Given the description of an element on the screen output the (x, y) to click on. 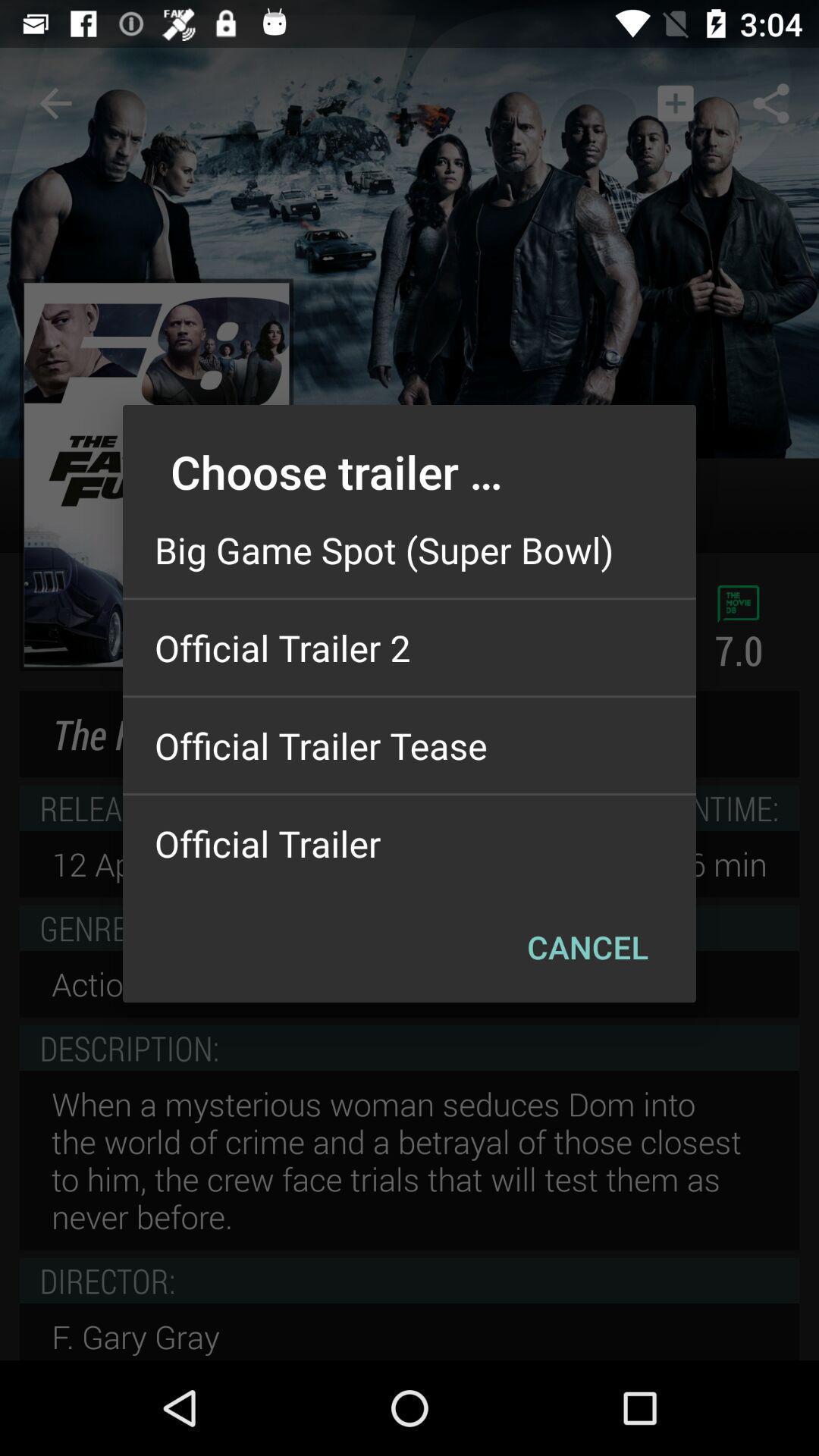
swipe until the cancel item (587, 946)
